Given the description of an element on the screen output the (x, y) to click on. 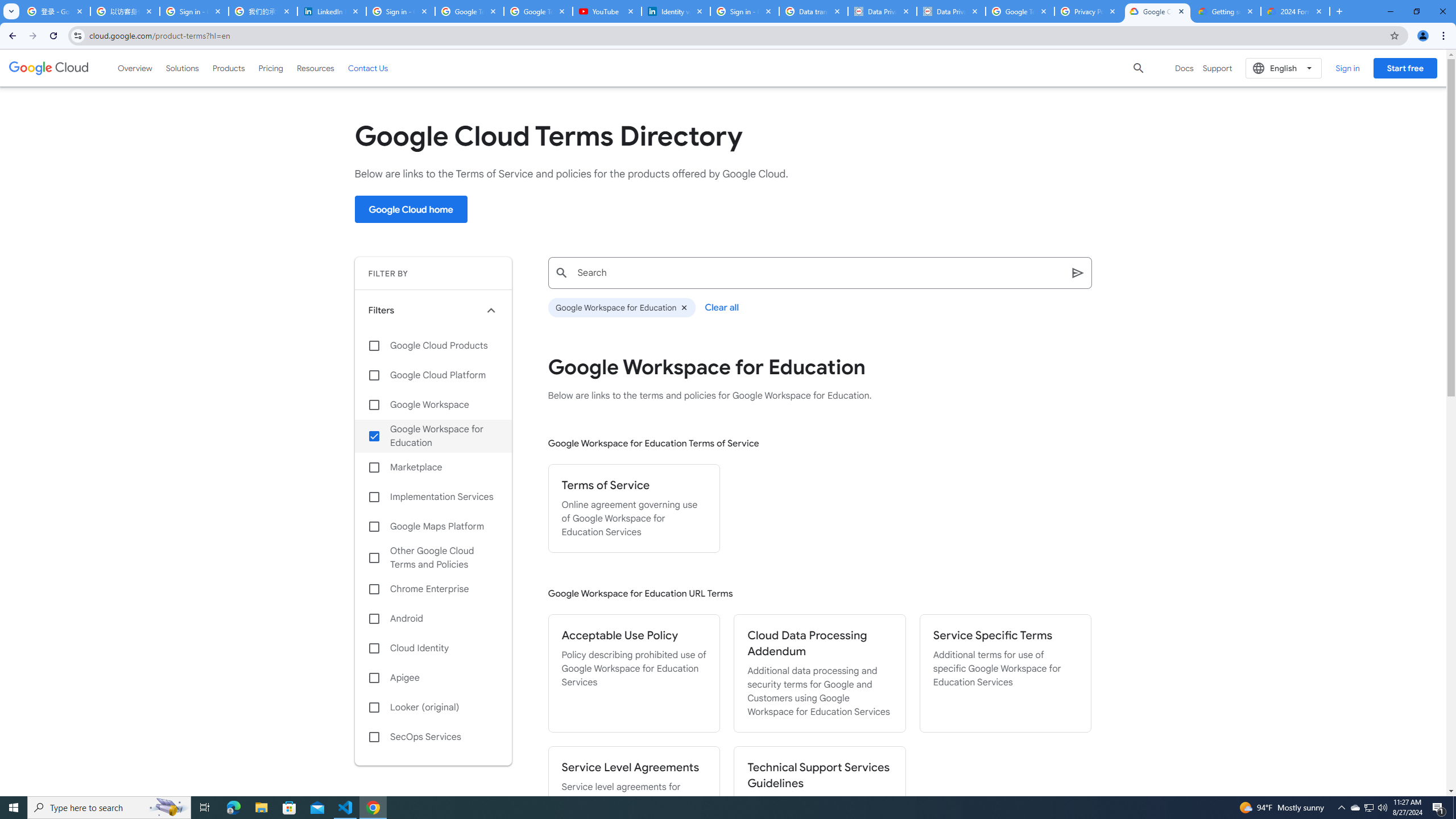
Products (228, 67)
Google Cloud Terms Directory | Google Cloud (1157, 11)
Google Cloud Products (432, 345)
Apigee (432, 677)
Google Cloud home (410, 208)
YouTube (606, 11)
Docs (1183, 67)
